Given the description of an element on the screen output the (x, y) to click on. 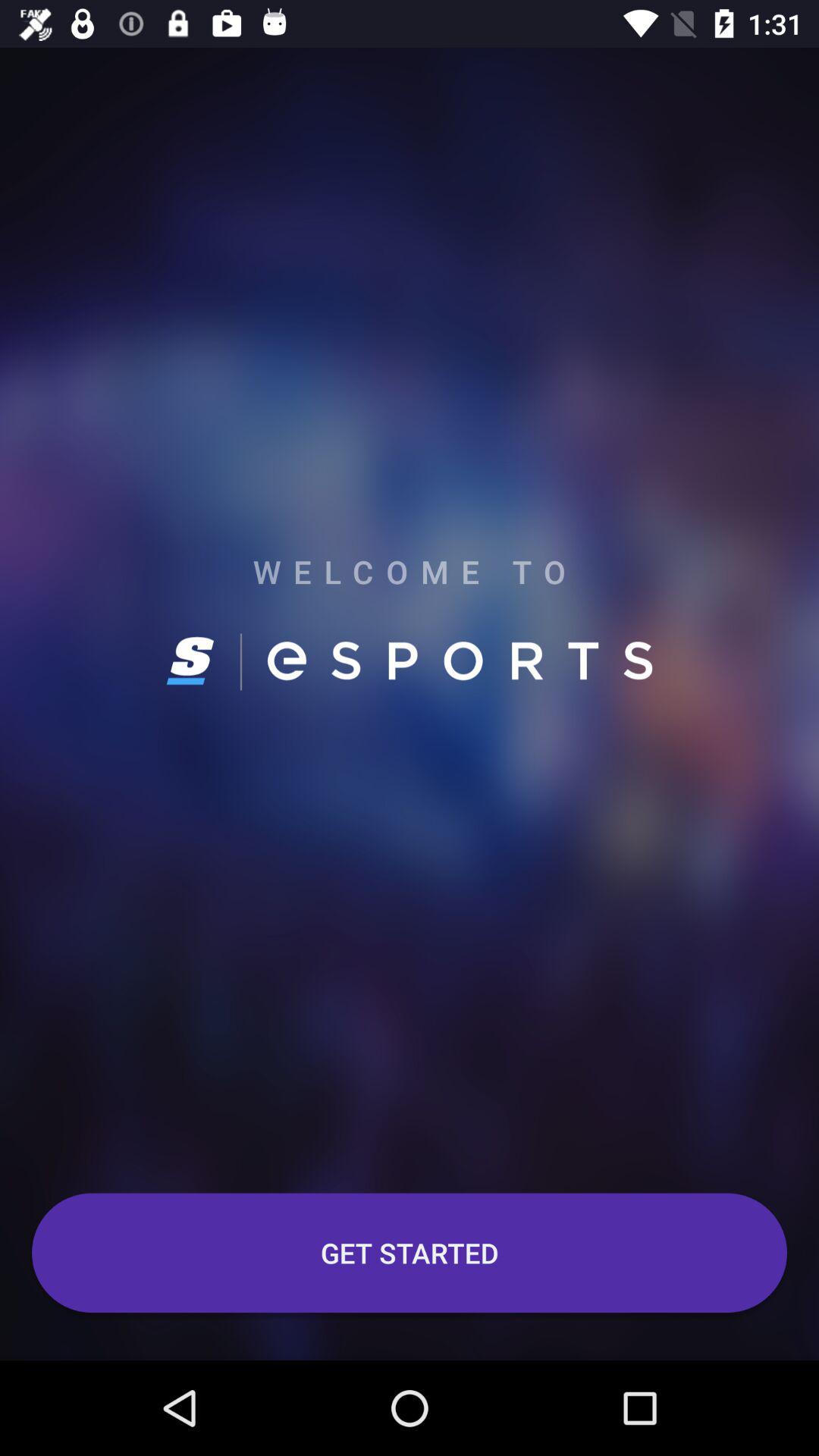
flip to get started icon (409, 1252)
